Given the description of an element on the screen output the (x, y) to click on. 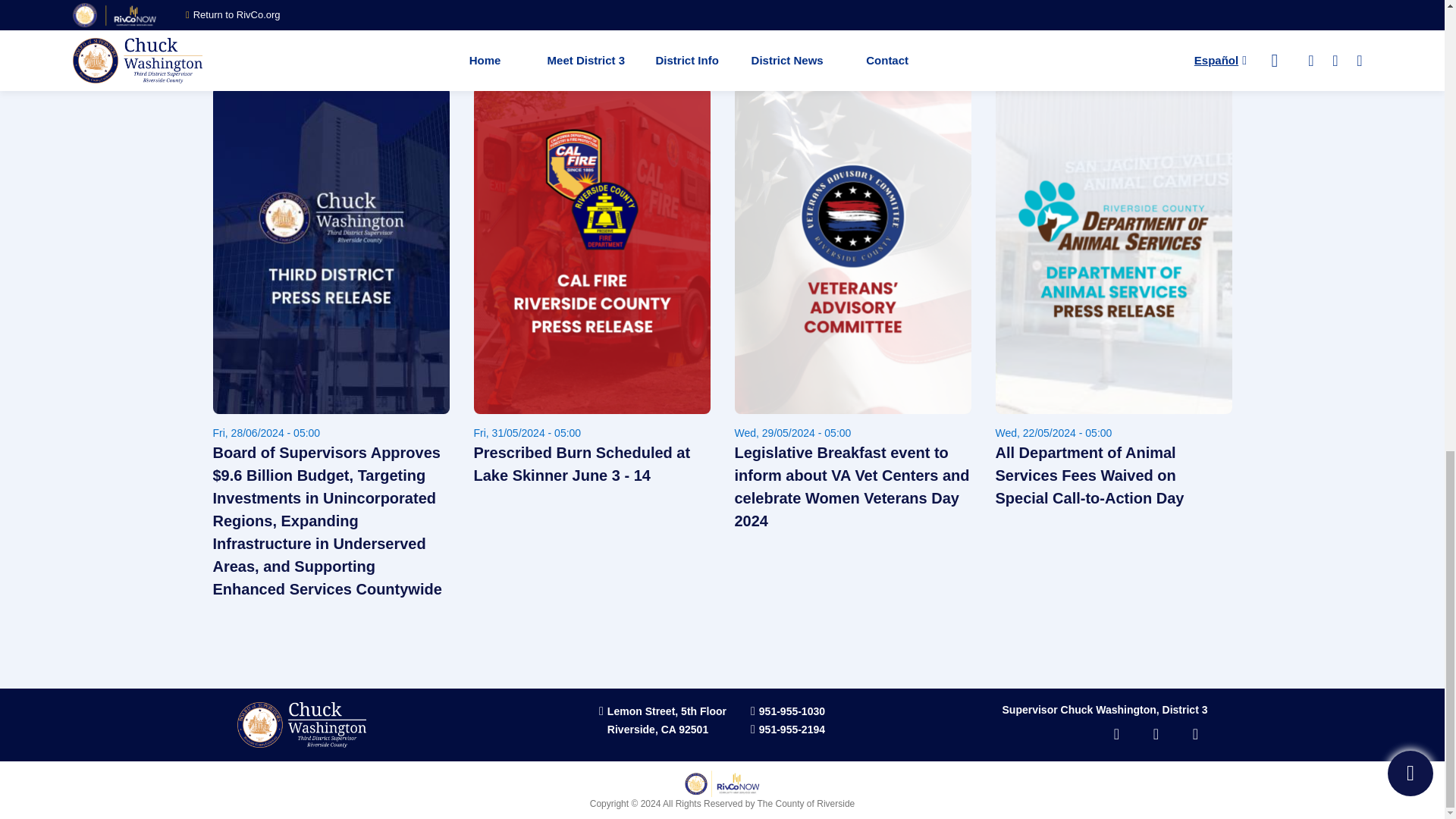
Prescribed Burn Scheduled at Lake Skinner June 3 - 14 (591, 463)
